Given the description of an element on the screen output the (x, y) to click on. 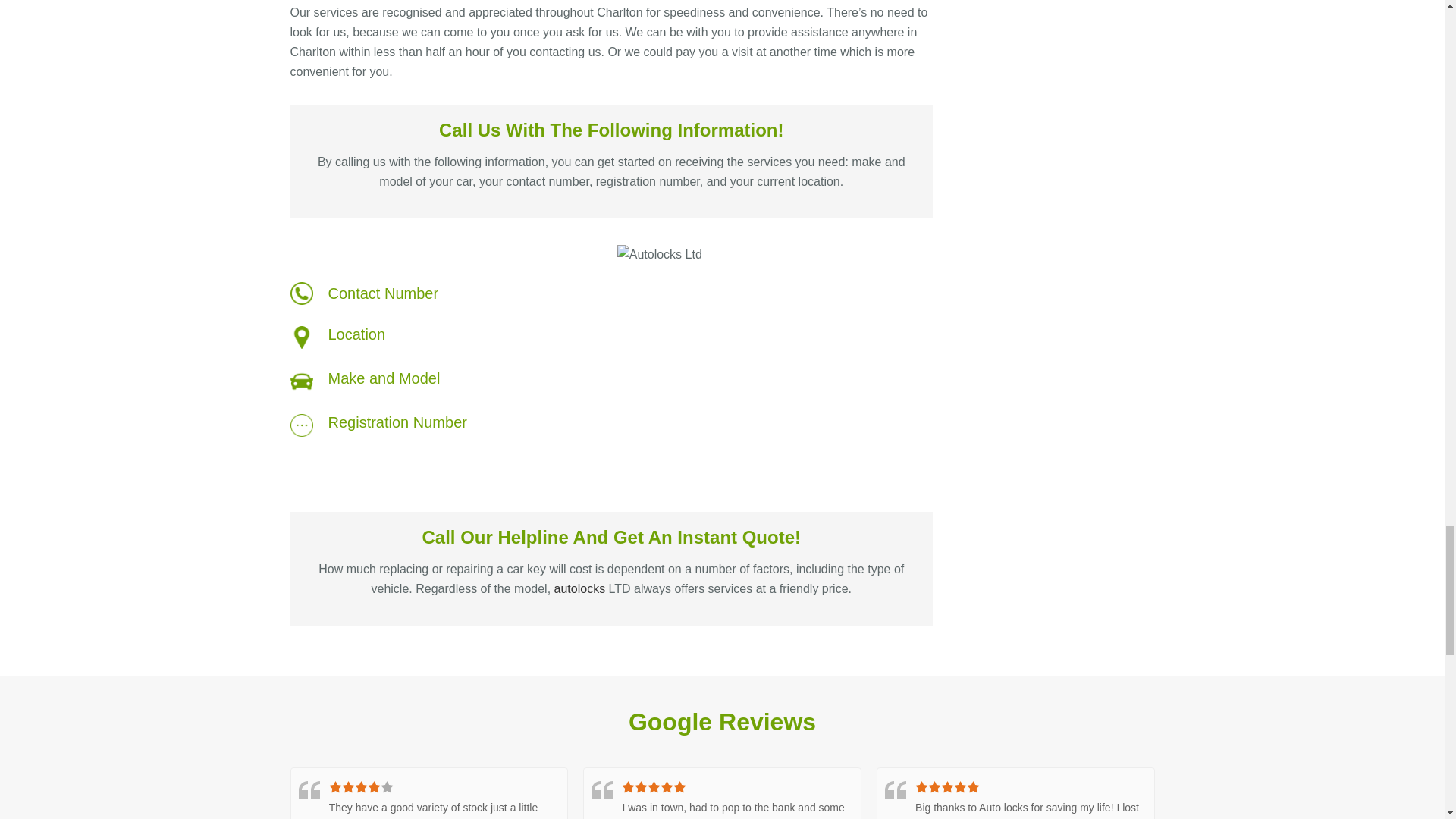
autolocks (579, 588)
